Given the description of an element on the screen output the (x, y) to click on. 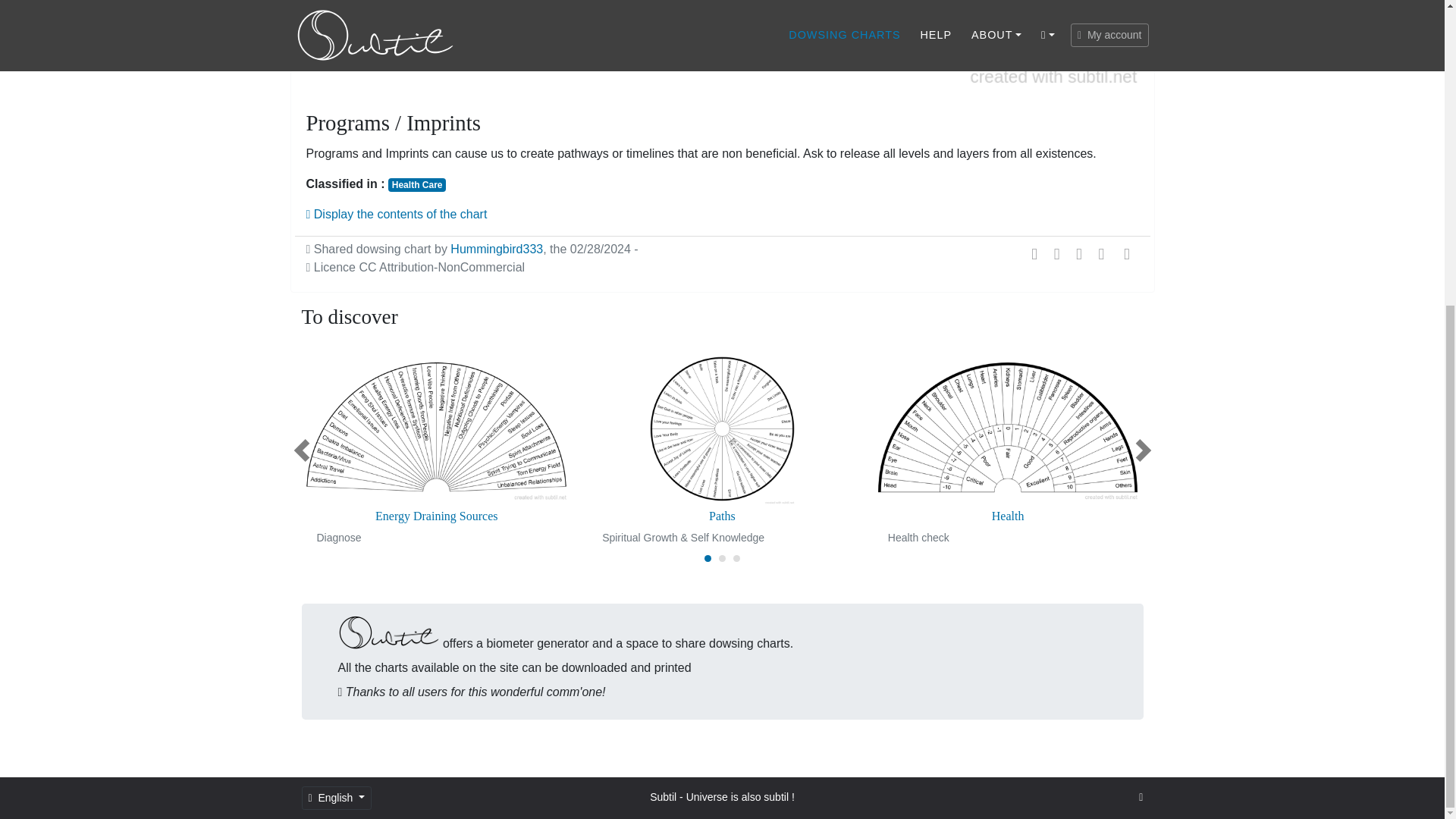
Display the contents of the chart (396, 214)
Energy Draining Sources (435, 515)
Hummingbird333 (496, 248)
Subtil (663, 797)
Paths (722, 515)
Email (1126, 253)
Health (1008, 515)
 Licence CC Attribution-NonCommercial (415, 267)
Health Care (416, 184)
